Given the description of an element on the screen output the (x, y) to click on. 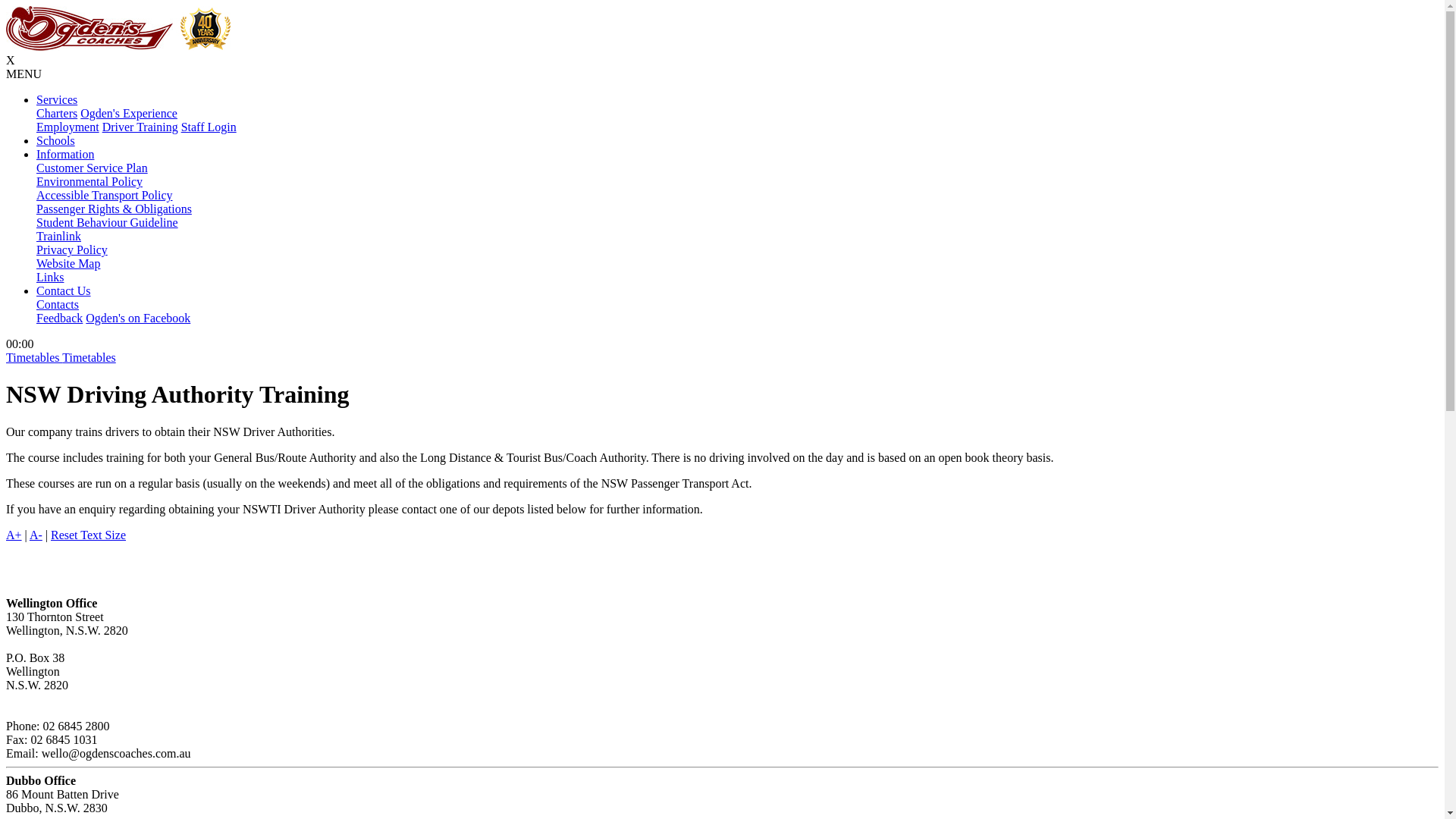
Employment Element type: text (67, 126)
Contact Us Element type: text (63, 290)
Contacts Element type: text (57, 304)
Timetables Element type: text (34, 357)
Charters Element type: text (56, 112)
A+ Element type: text (13, 534)
Feedback Element type: text (59, 317)
Website Map Element type: text (68, 263)
Student Behaviour Guideline Element type: text (107, 222)
Links Element type: text (49, 276)
Environmental Policy Element type: text (89, 181)
Ogden's Experience Element type: text (128, 112)
Driver Training Element type: text (140, 126)
Ogden's on Facebook Element type: text (137, 317)
Privacy Policy Element type: text (71, 249)
Information Element type: text (65, 153)
Schools Element type: text (55, 140)
Trainlink Element type: text (58, 235)
Services Element type: text (56, 99)
Passenger Rights & Obligations Element type: text (113, 208)
Staff Login Element type: text (208, 126)
A- Element type: text (35, 534)
Timetables Element type: text (89, 357)
Accessible Transport Policy Element type: text (104, 194)
Customer Service Plan Element type: text (91, 167)
Reset Text Size Element type: text (87, 534)
